Given the description of an element on the screen output the (x, y) to click on. 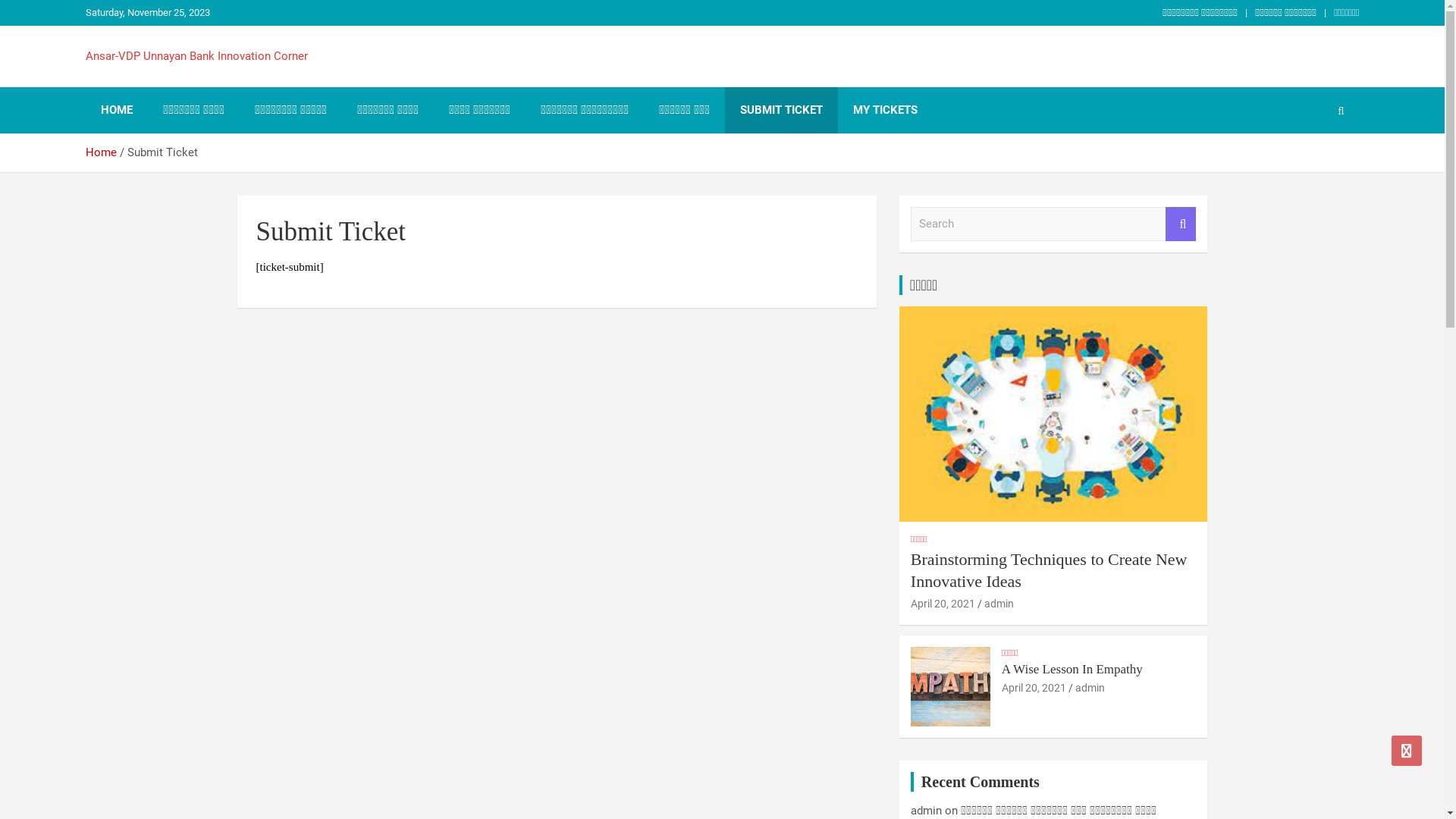
MY TICKETS Element type: text (884, 110)
April 20, 2021 Element type: text (1033, 687)
Brainstorming Techniques to Create New Innovative Ideas Element type: text (1048, 569)
Search Element type: text (1180, 224)
A Wise Lesson In Empathy Element type: text (1071, 669)
admin Element type: text (925, 810)
admin Element type: text (1089, 687)
April 20, 2021 Element type: text (942, 603)
admin Element type: text (998, 603)
HOME Element type: text (115, 110)
Go to Top Element type: hover (1406, 750)
SUBMIT TICKET Element type: text (780, 110)
Home Element type: text (100, 152)
